Given the description of an element on the screen output the (x, y) to click on. 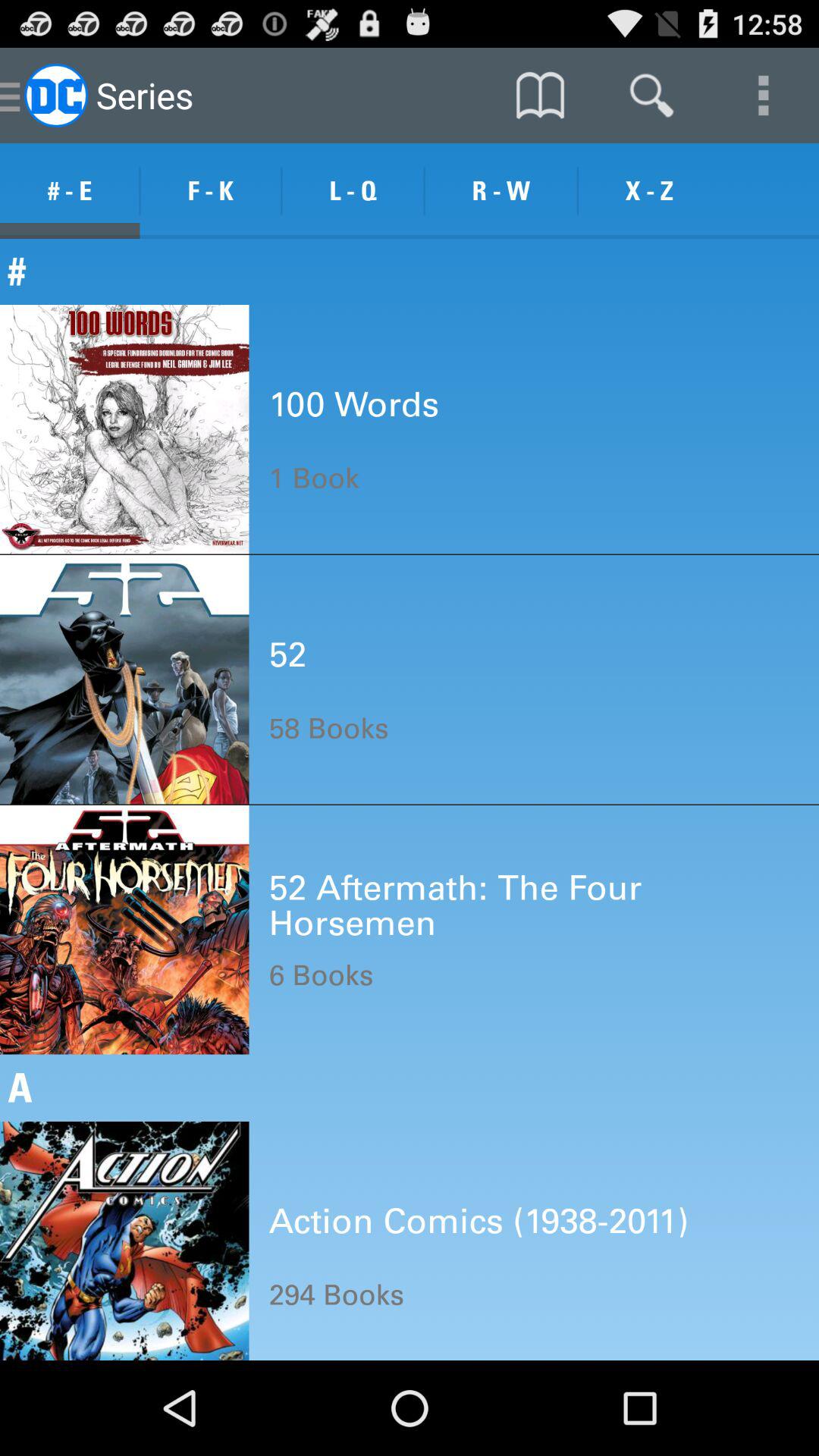
launch the icon next to l - q (500, 190)
